Given the description of an element on the screen output the (x, y) to click on. 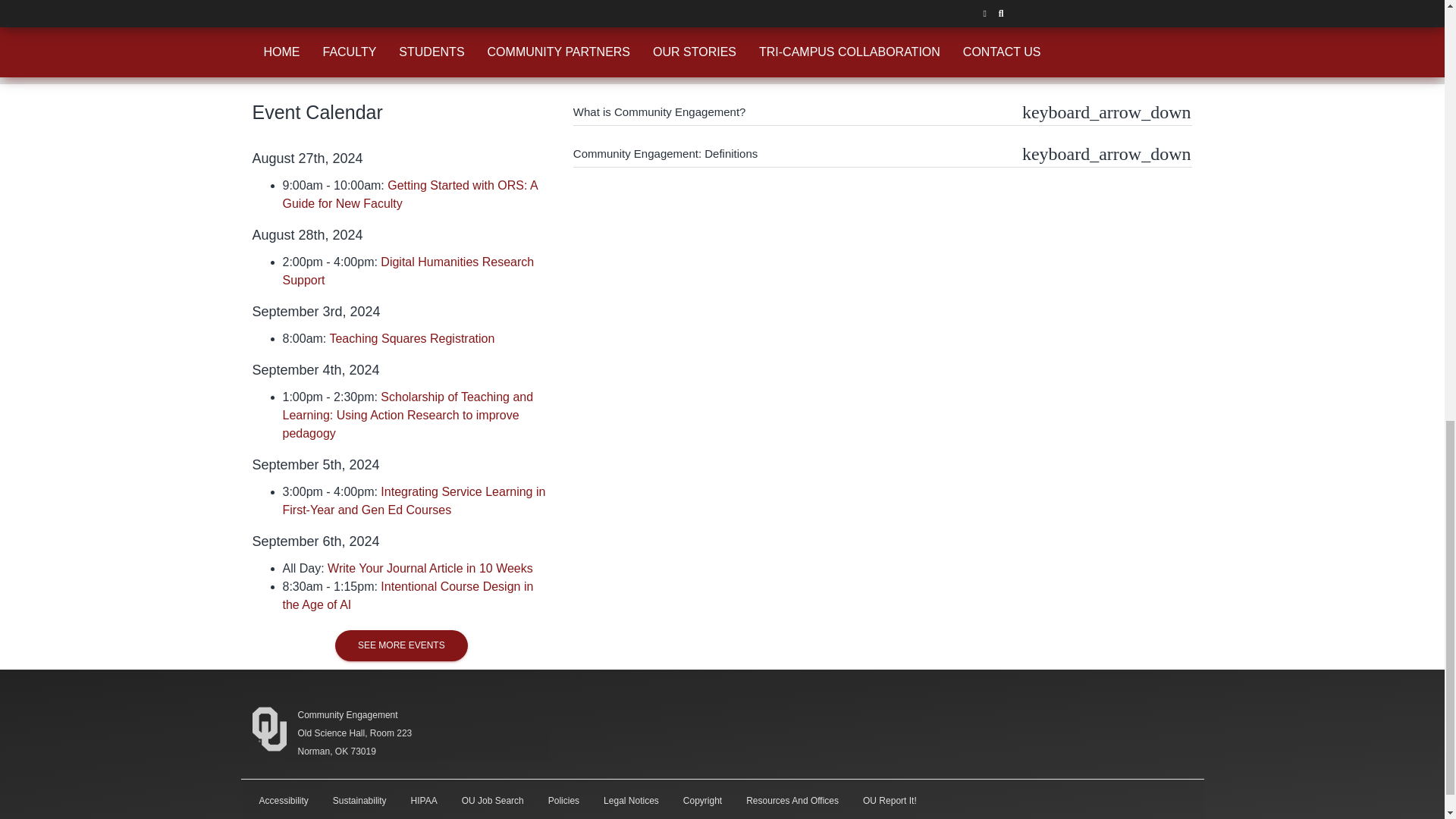
Accessibility (283, 800)
Copyright (702, 800)
Legal Notices (631, 800)
OU Job Search (492, 800)
Intentional Course Design in the Age of AI (407, 594)
SEE MORE EVENTS (401, 644)
Getting Started with ORS: A Guide for New Faculty (409, 194)
Write Your Journal Article in 10 Weeks (430, 567)
